Given the description of an element on the screen output the (x, y) to click on. 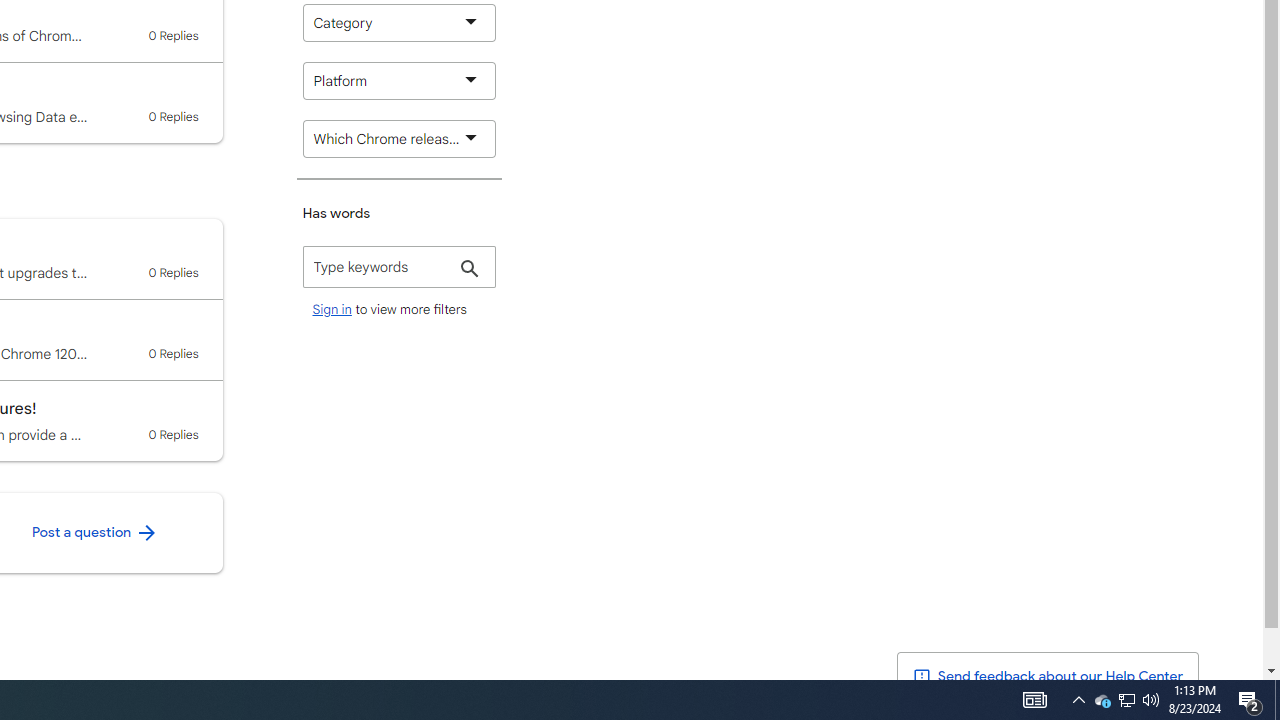
Has words (399, 267)
Which Chrome release channel are you using? (399, 138)
Post a question  (94, 533)
 Send feedback about our Help Center (1048, 677)
 Apply filter  (469, 269)
Platform (399, 80)
Category (399, 22)
